Given the description of an element on the screen output the (x, y) to click on. 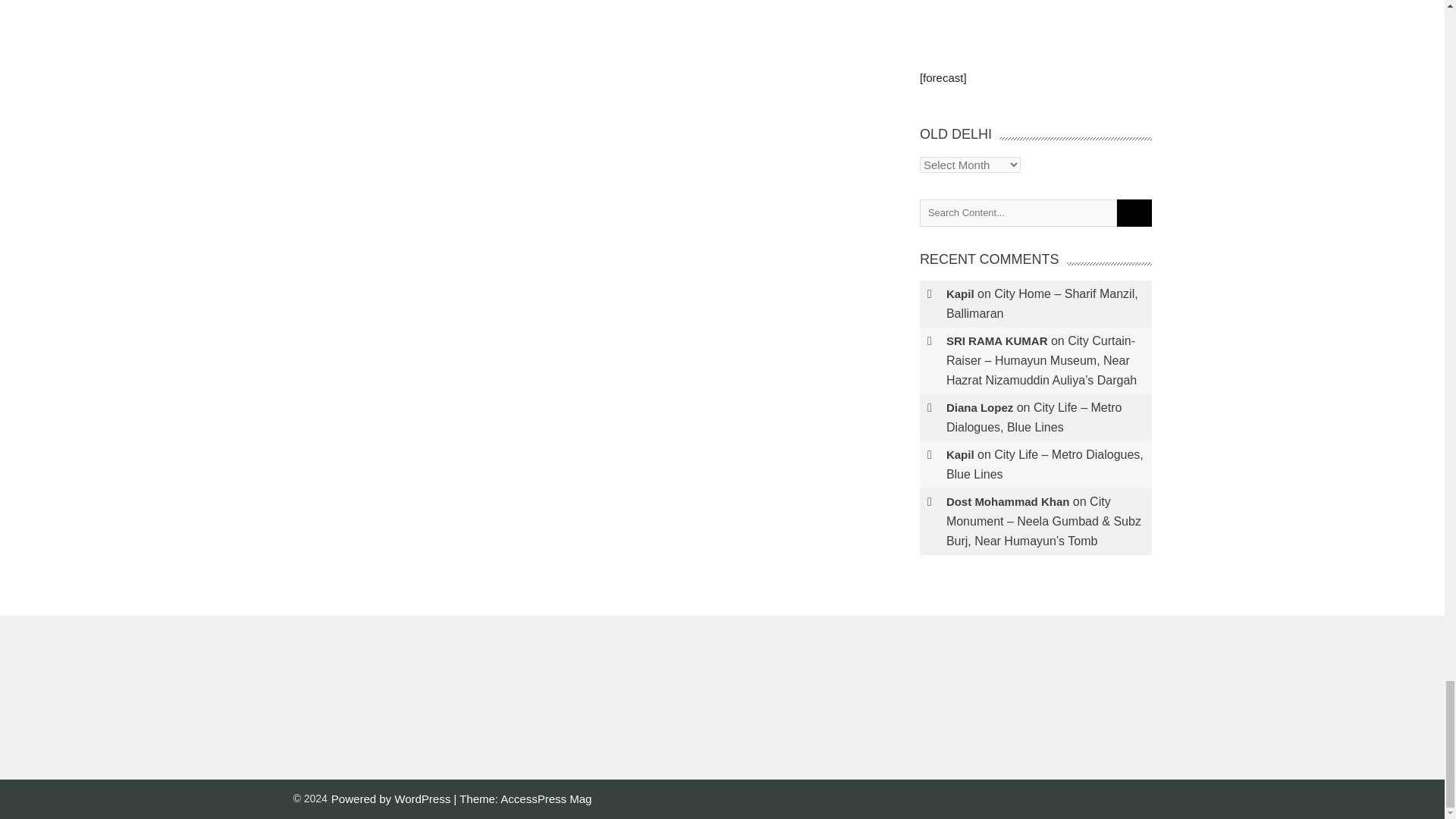
Search for: (1018, 212)
Advertisement (1035, 11)
AccessPress Themes (545, 798)
